Given the description of an element on the screen output the (x, y) to click on. 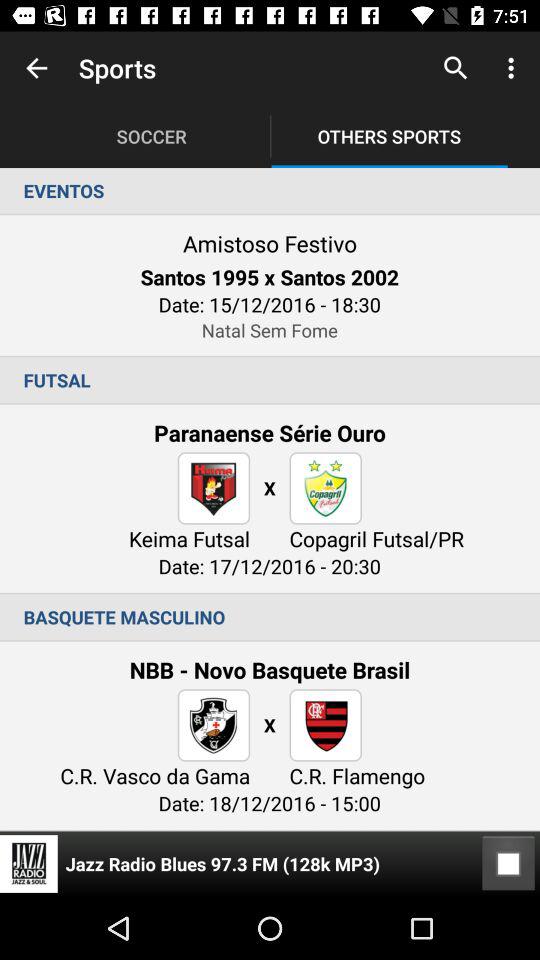
launch app next to the sports item (36, 68)
